Given the description of an element on the screen output the (x, y) to click on. 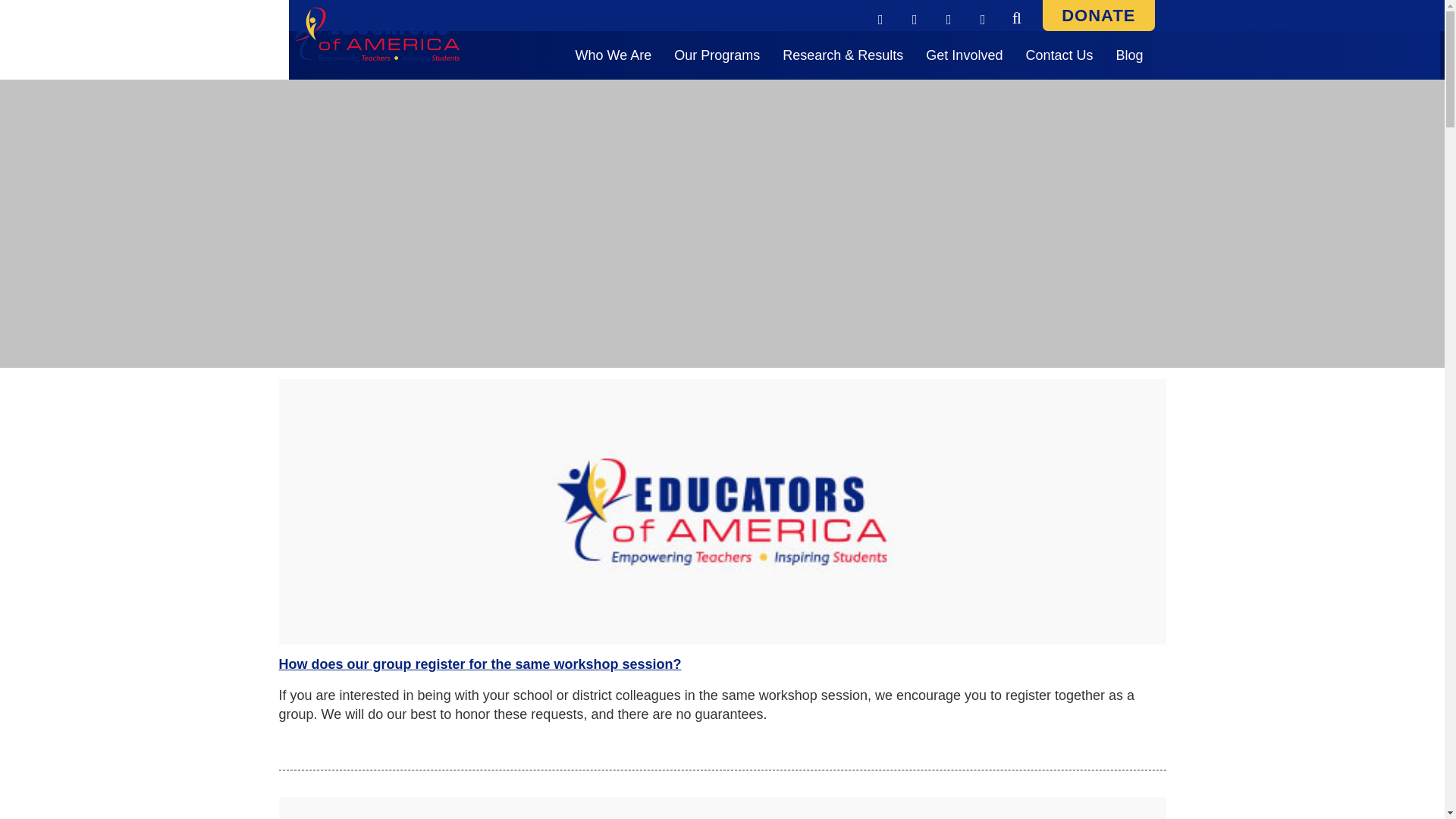
Our Programs (716, 55)
Contact Us (1058, 55)
Who We Are (613, 55)
Our Programs (716, 55)
DONATE (1098, 15)
Who We Are (613, 55)
Get Involved (963, 55)
